Given the description of an element on the screen output the (x, y) to click on. 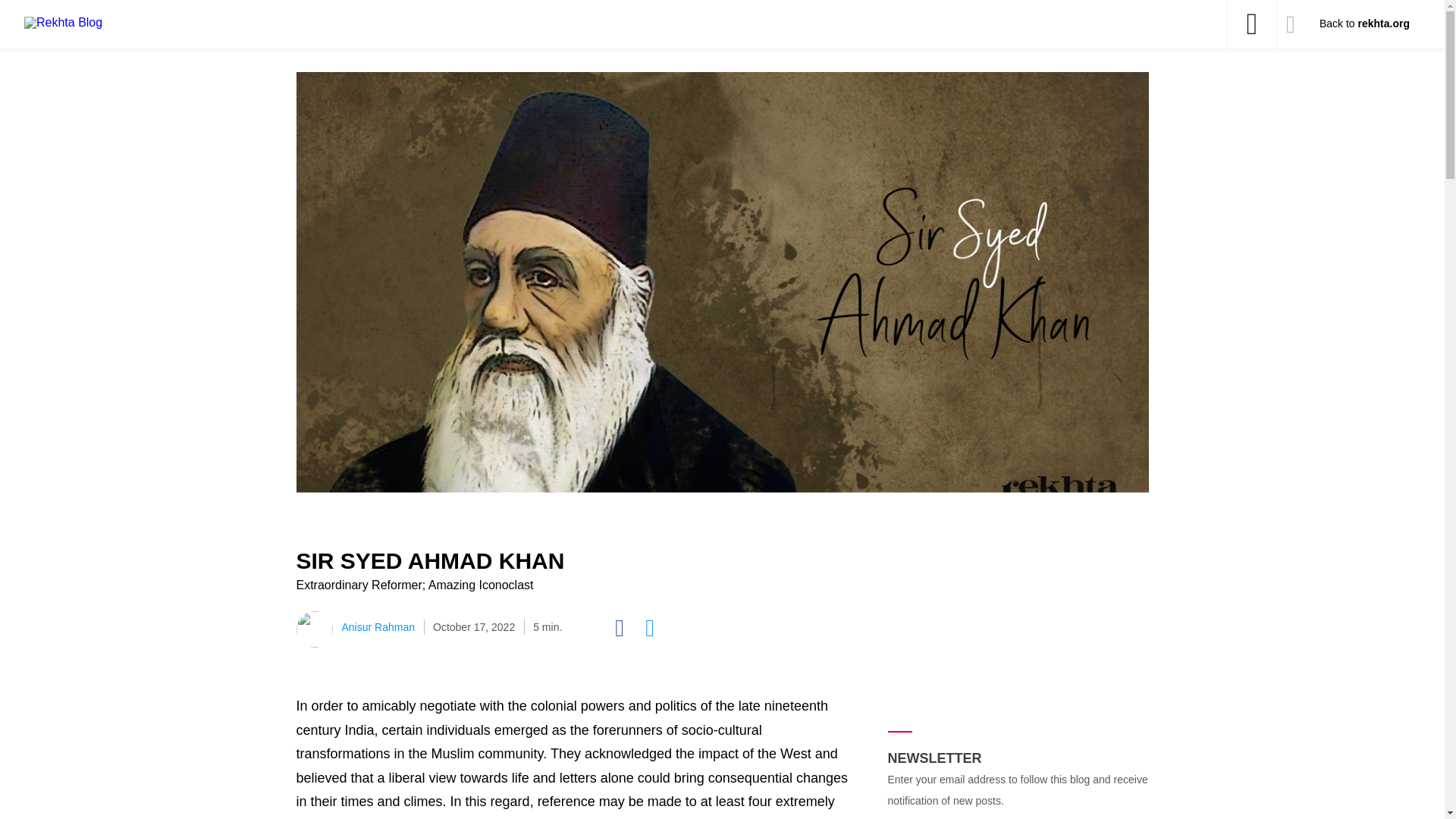
Rekhta Blog (115, 22)
Anisur Rahman (377, 626)
Share this post on Facebook! (629, 627)
Click to share this post on Twitter (660, 627)
Back to rekhta.org (1364, 23)
